Given the description of an element on the screen output the (x, y) to click on. 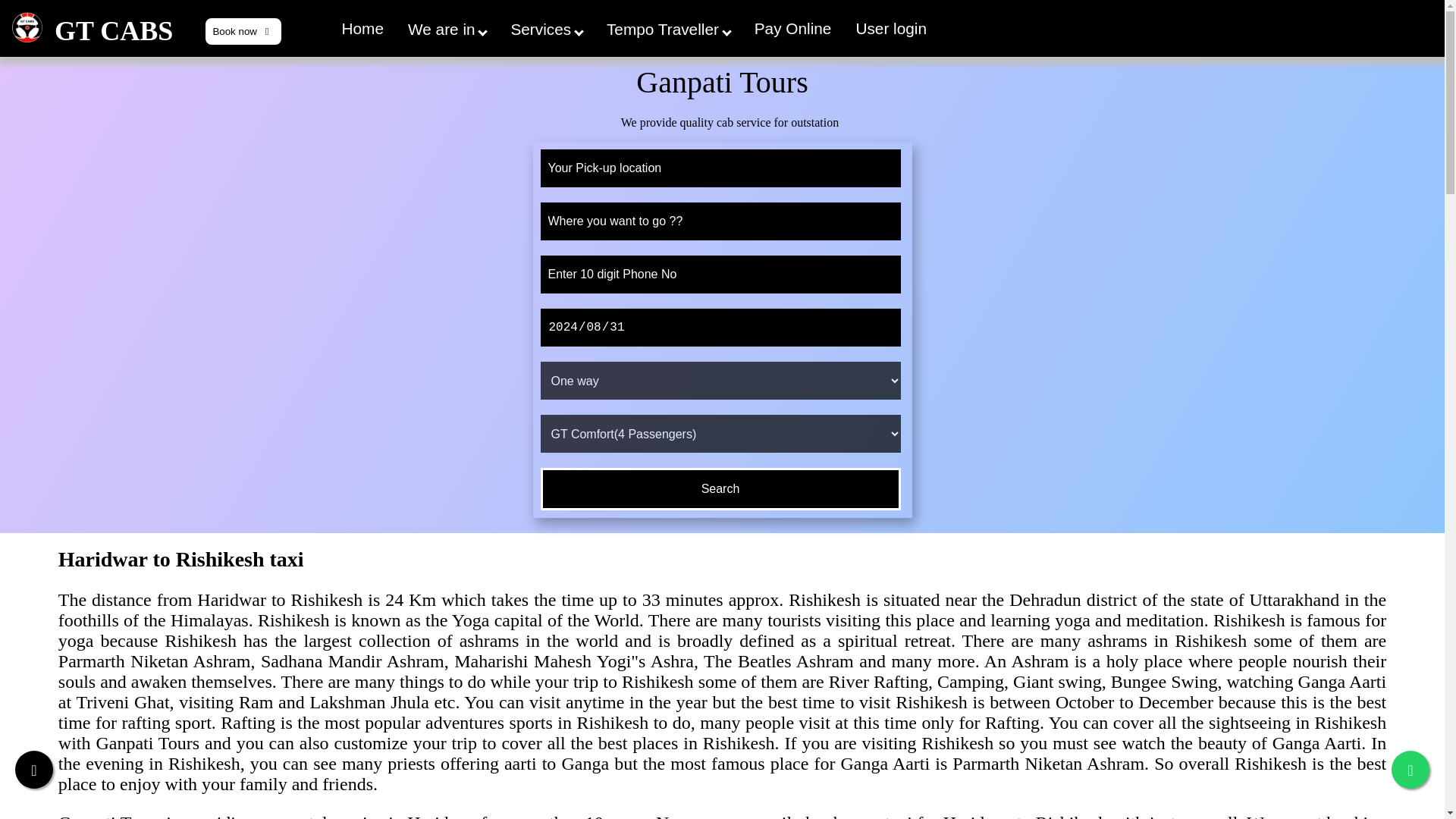
Home (363, 24)
Book now (243, 31)
We are in (446, 24)
Tempo Traveller (668, 24)
Services (545, 24)
2024-08-31 (719, 327)
ganpati tours (27, 27)
Search (719, 488)
